Given the description of an element on the screen output the (x, y) to click on. 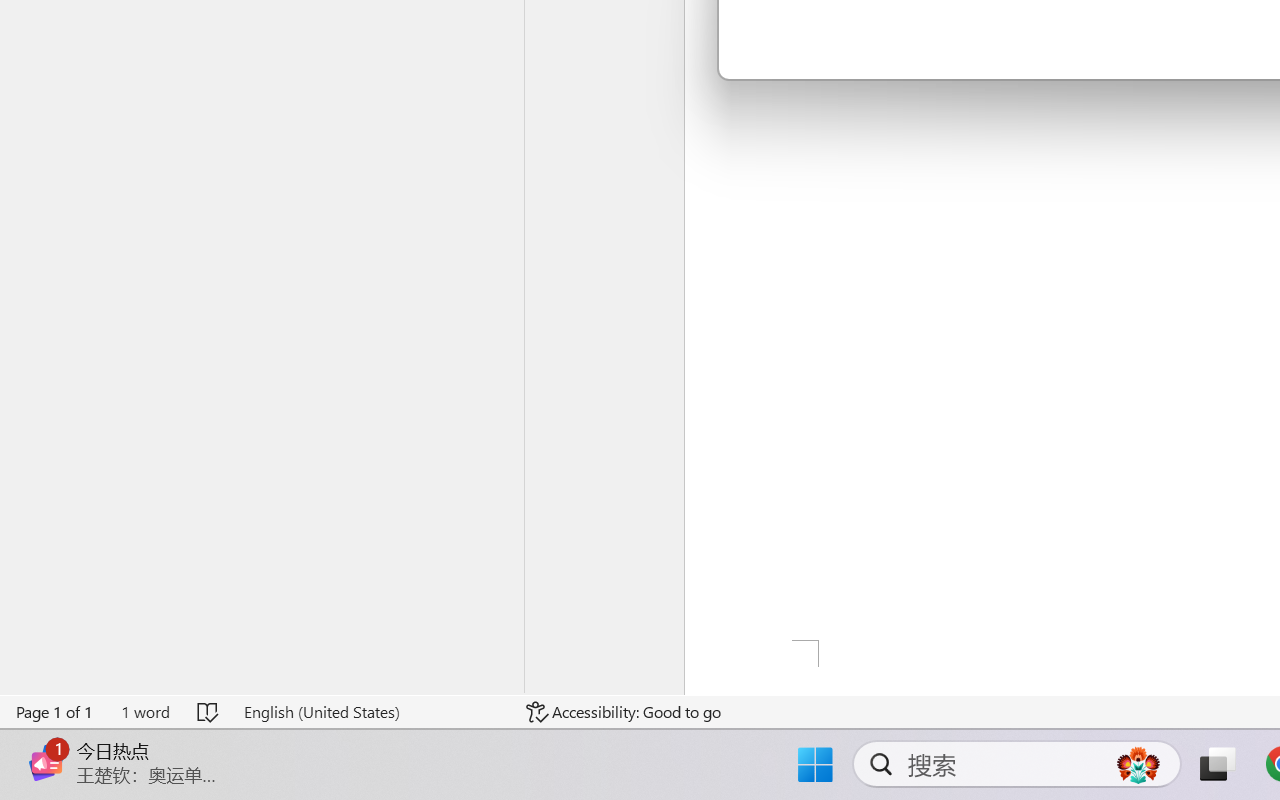
Spelling and Grammar Check No Errors (208, 712)
Page Number Page 1 of 1 (55, 712)
Accessibility Checker Accessibility: Good to go (623, 712)
AutomationID: BadgeAnchorLargeTicker (46, 743)
Word Count 1 word (145, 712)
Language English (United States) (370, 712)
AutomationID: DynamicSearchBoxGleamImage (1138, 764)
Class: Image (46, 762)
